Given the description of an element on the screen output the (x, y) to click on. 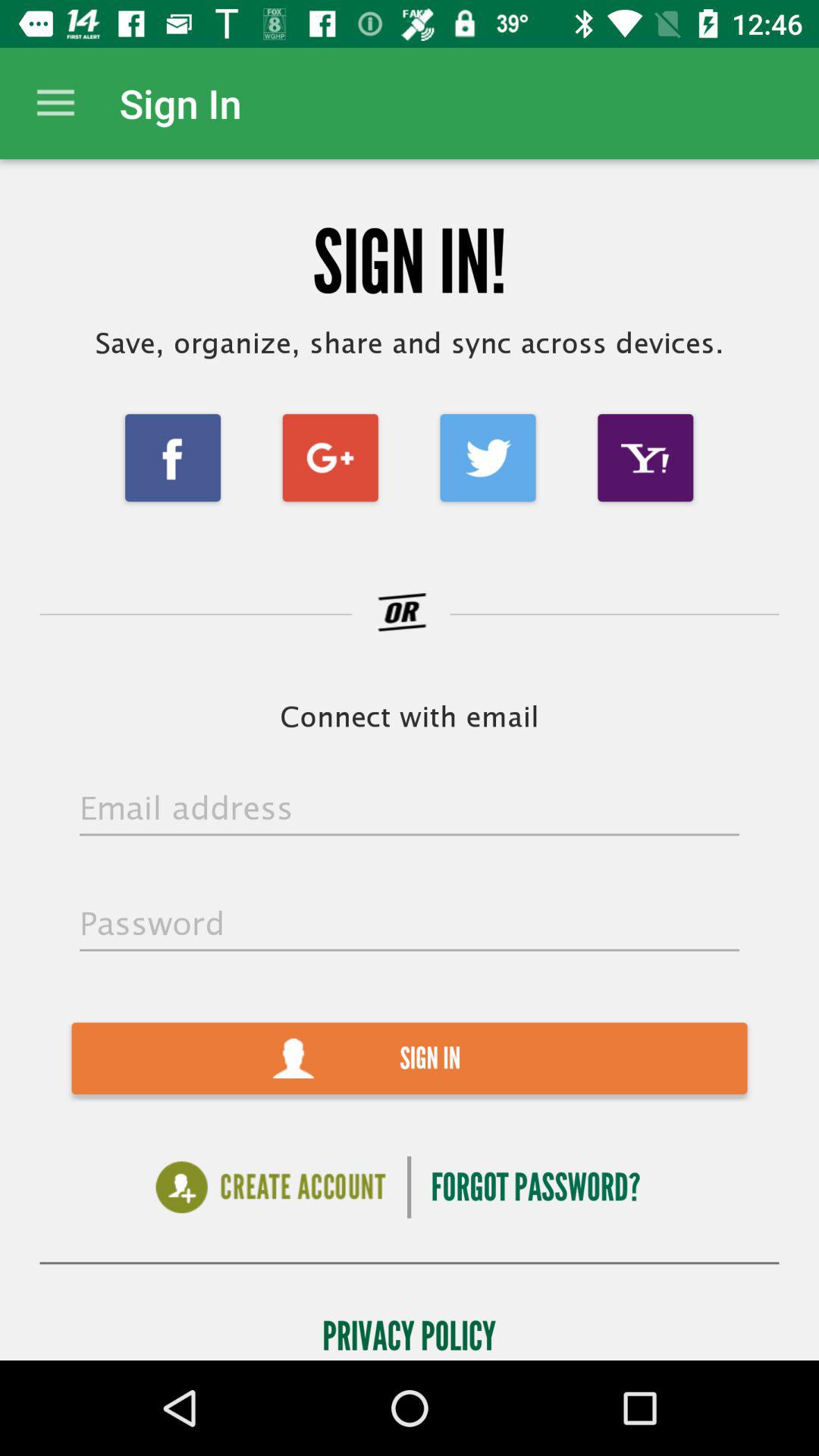
enter your password (409, 924)
